Given the description of an element on the screen output the (x, y) to click on. 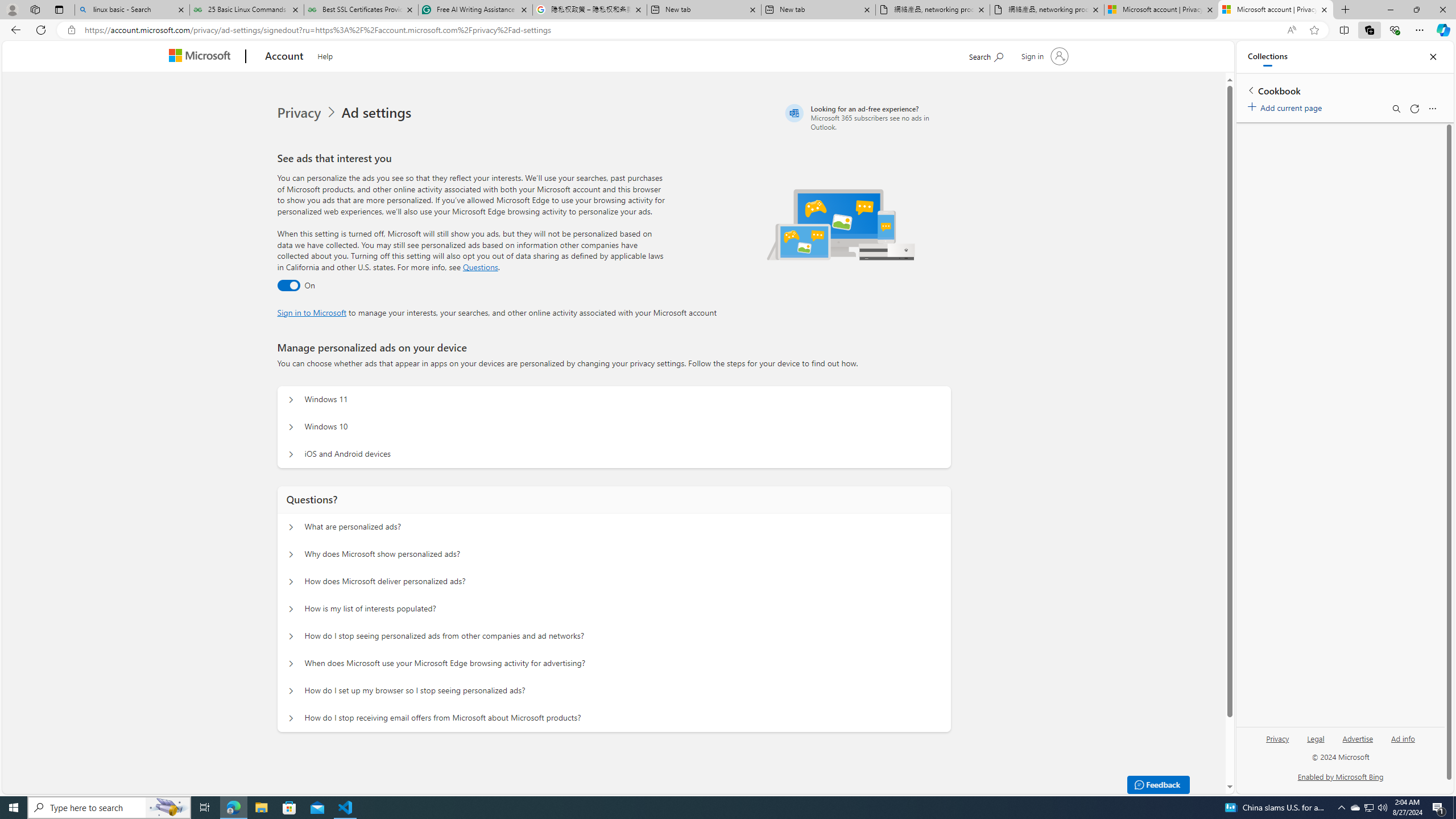
Questions? Why does Microsoft show personalized ads? (290, 554)
More options menu (1432, 108)
Help (324, 54)
Ad info (1402, 742)
Microsoft (202, 56)
Questions? How is my list of interests populated? (290, 608)
Privacy (1277, 742)
Address and search bar (680, 29)
